Given the description of an element on the screen output the (x, y) to click on. 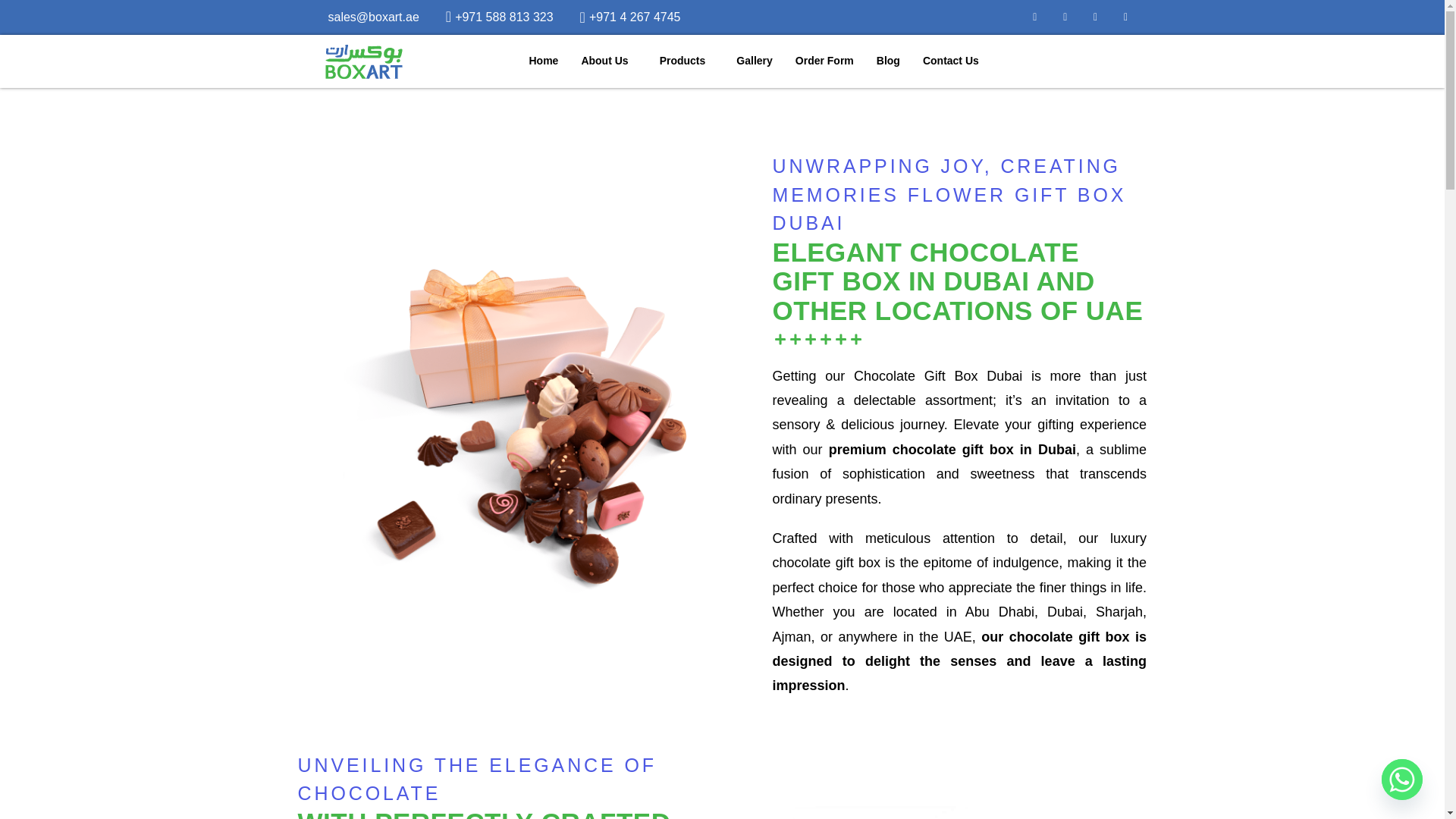
Order Form (824, 61)
Home (542, 61)
Products (686, 61)
Gallery (754, 61)
About Us (608, 61)
Chocolate box 2 (938, 806)
